Given the description of an element on the screen output the (x, y) to click on. 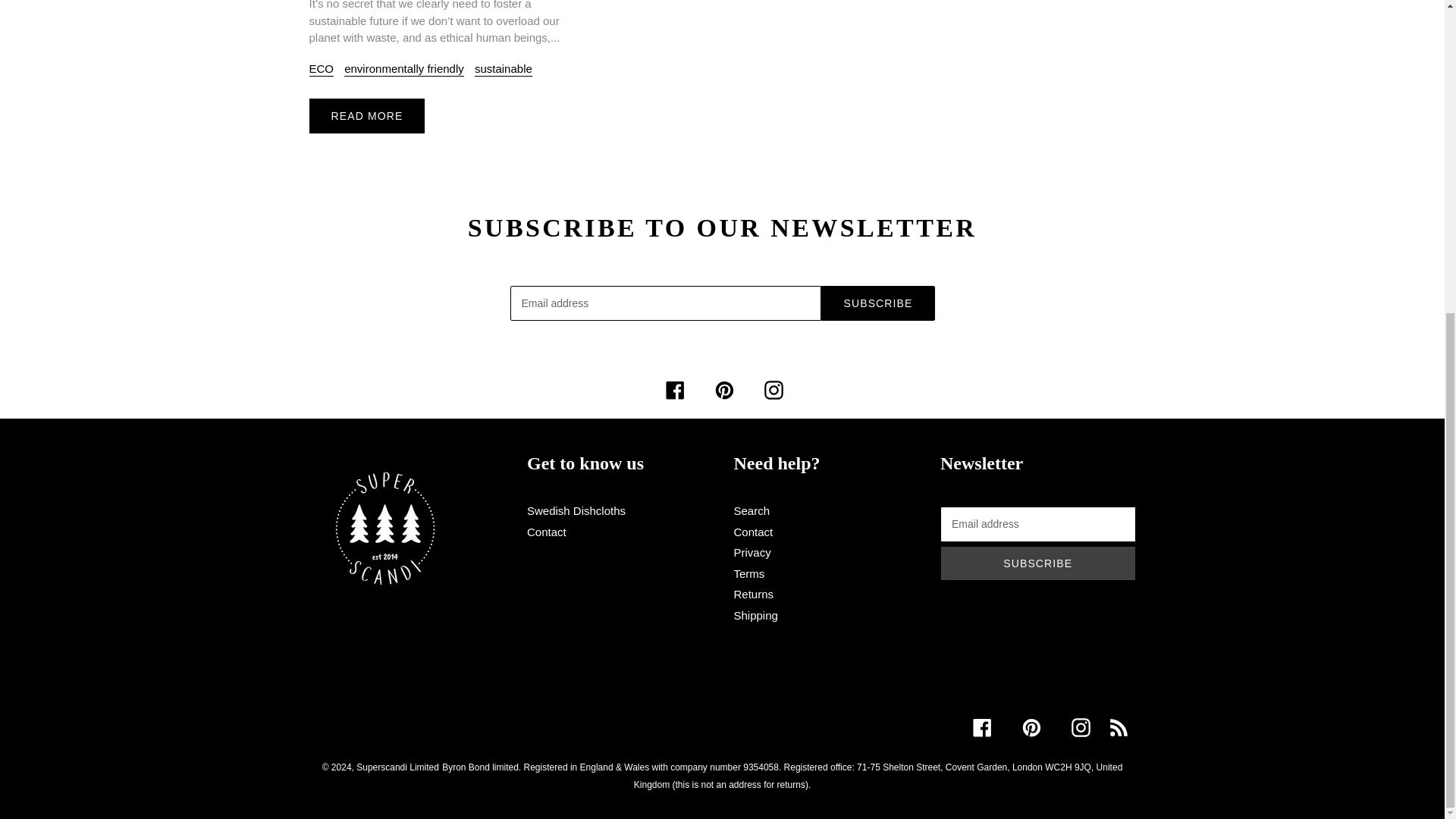
ECO (321, 69)
Shipping (755, 615)
Pinterest (723, 389)
Instagram (773, 389)
SUBSCRIBE (877, 303)
Returns (753, 594)
Contact (753, 531)
Terms (749, 573)
Pinterest (1031, 727)
RSS (1117, 727)
